Given the description of an element on the screen output the (x, y) to click on. 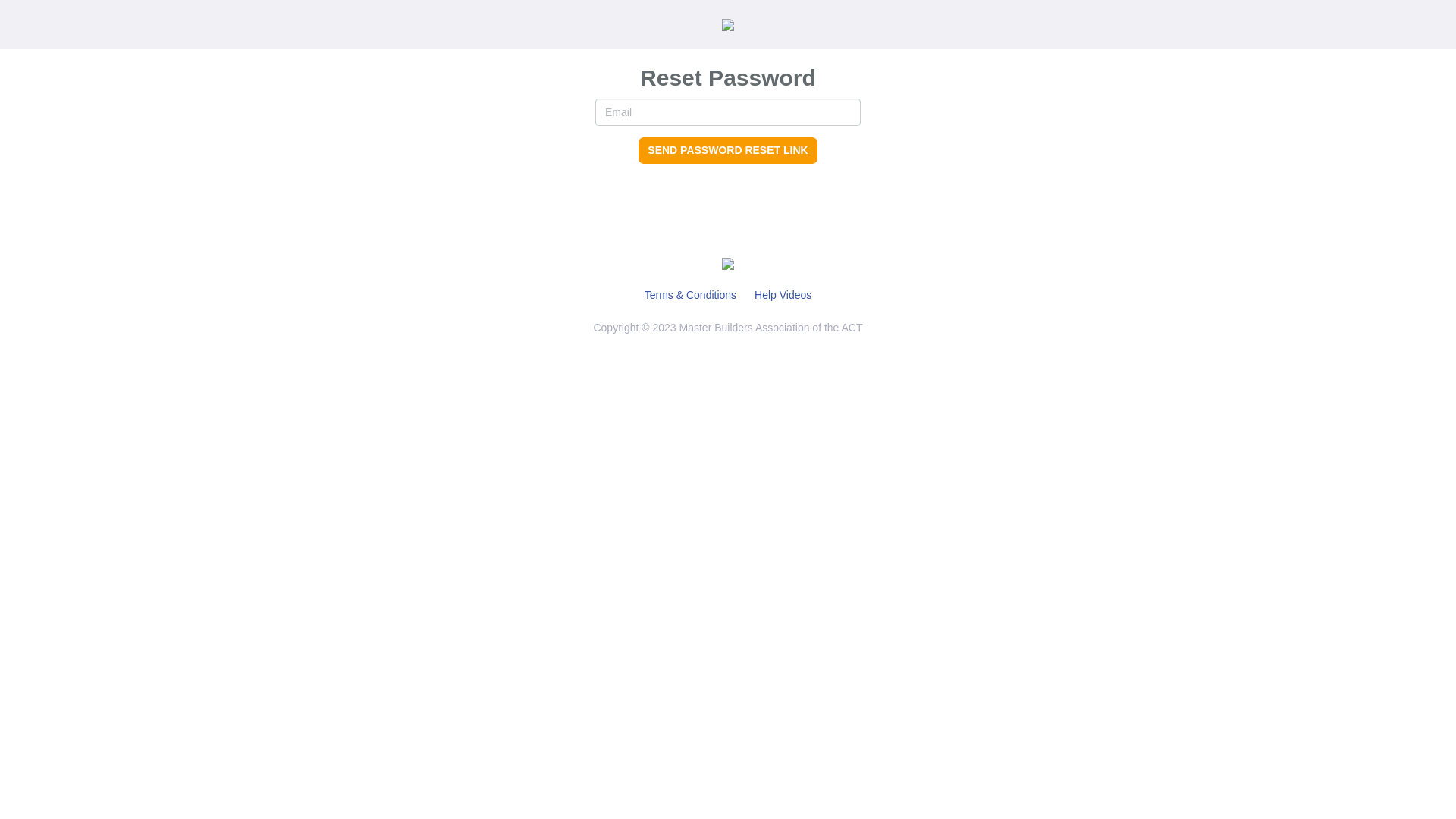
SEND PASSWORD RESET LINK Element type: text (727, 150)
Help Videos Element type: text (782, 294)
Terms & Conditions Element type: text (690, 294)
